Given the description of an element on the screen output the (x, y) to click on. 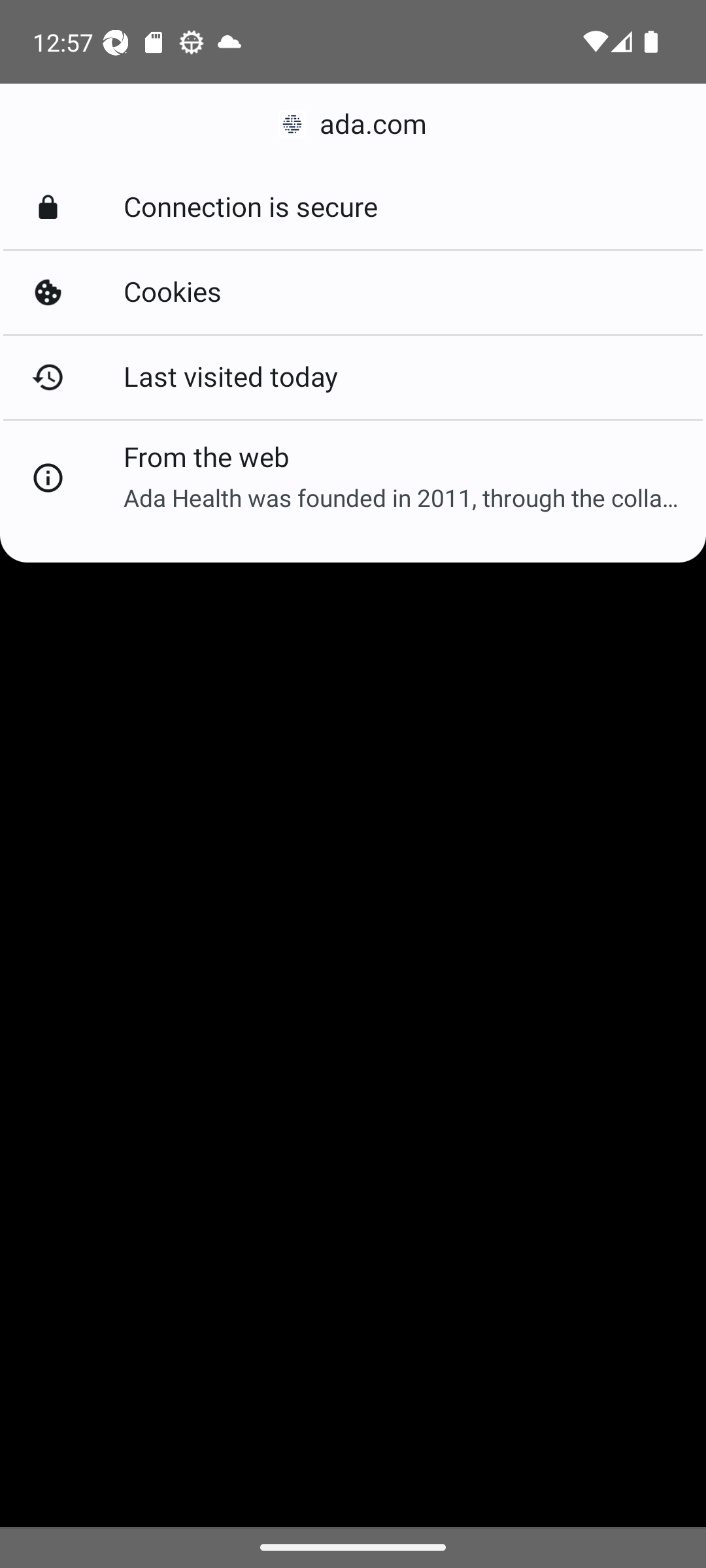
ada.com (353, 124)
Connection is secure (353, 207)
Cookies (353, 291)
Last visited today (353, 376)
